Given the description of an element on the screen output the (x, y) to click on. 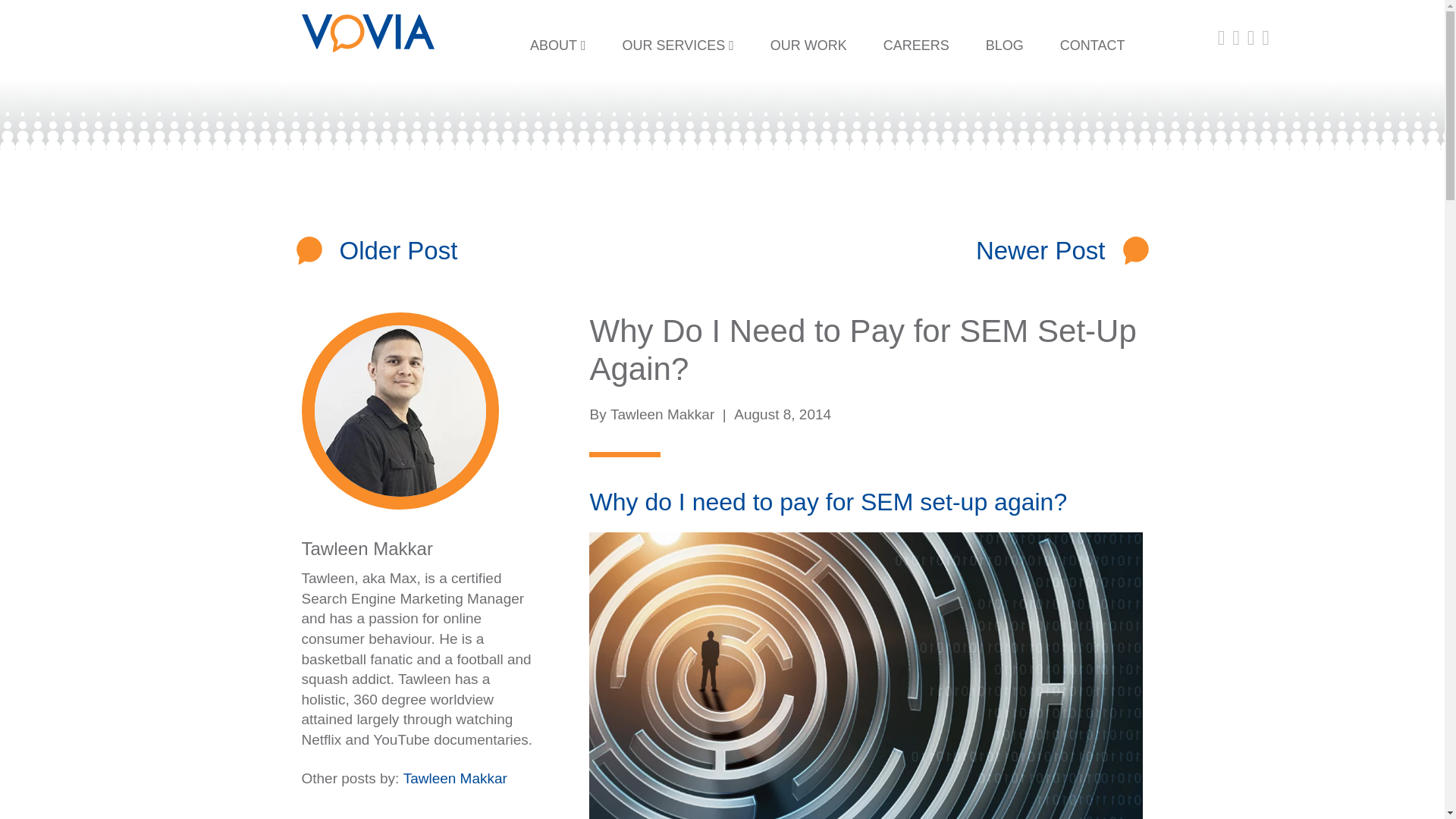
ABOUT (558, 45)
CAREERS (916, 45)
CONTACT (1092, 45)
Posts by Tawleen Makkar (366, 548)
Older Post (398, 250)
BLOG (1005, 45)
OUR SERVICES (677, 45)
Posts by Tawleen Makkar (454, 778)
OUR WORK (808, 45)
Posts by Tawleen Makkar (662, 414)
